Given the description of an element on the screen output the (x, y) to click on. 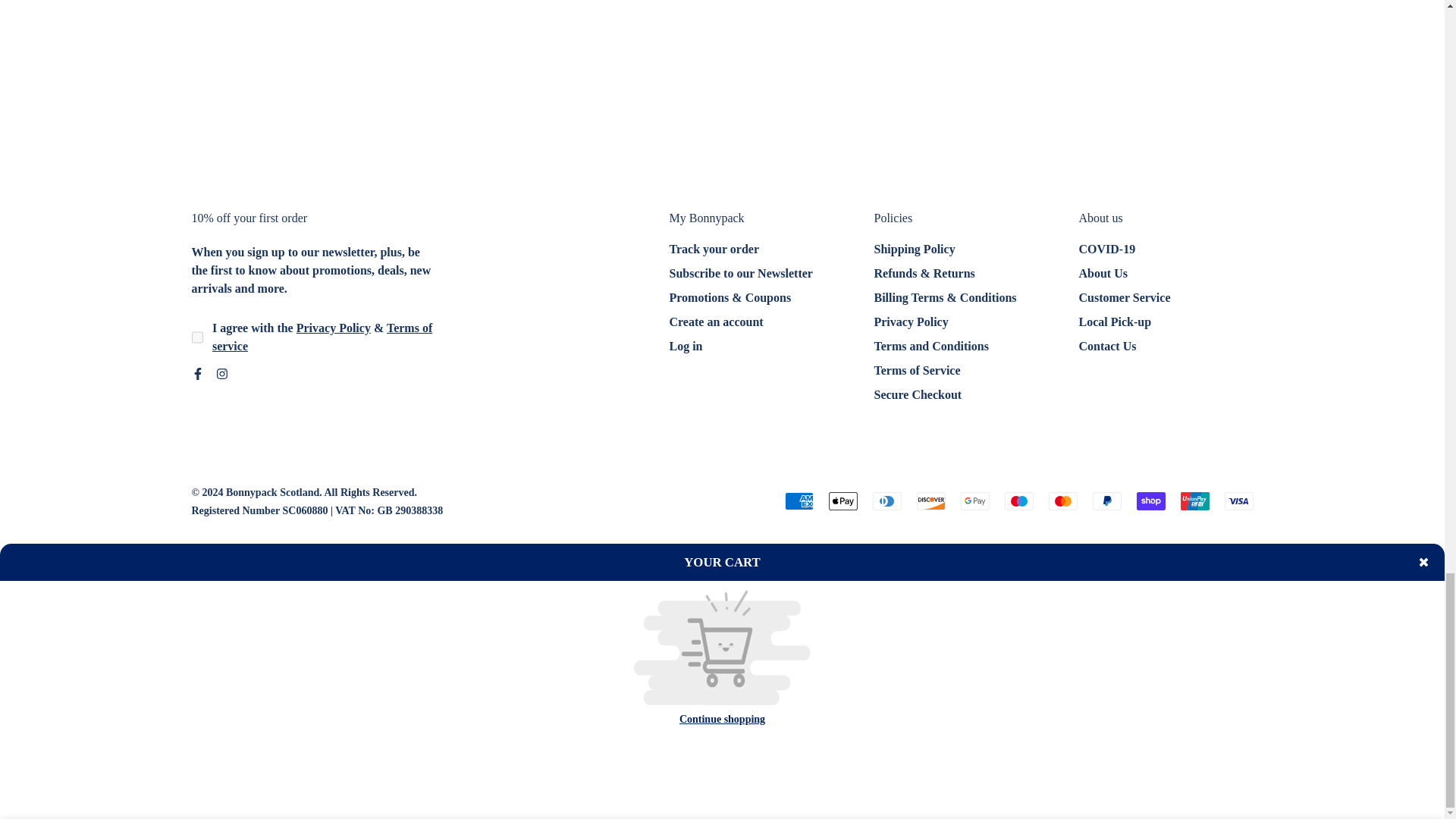
Terms of Service (322, 336)
Privacy Policy (334, 327)
